Given the description of an element on the screen output the (x, y) to click on. 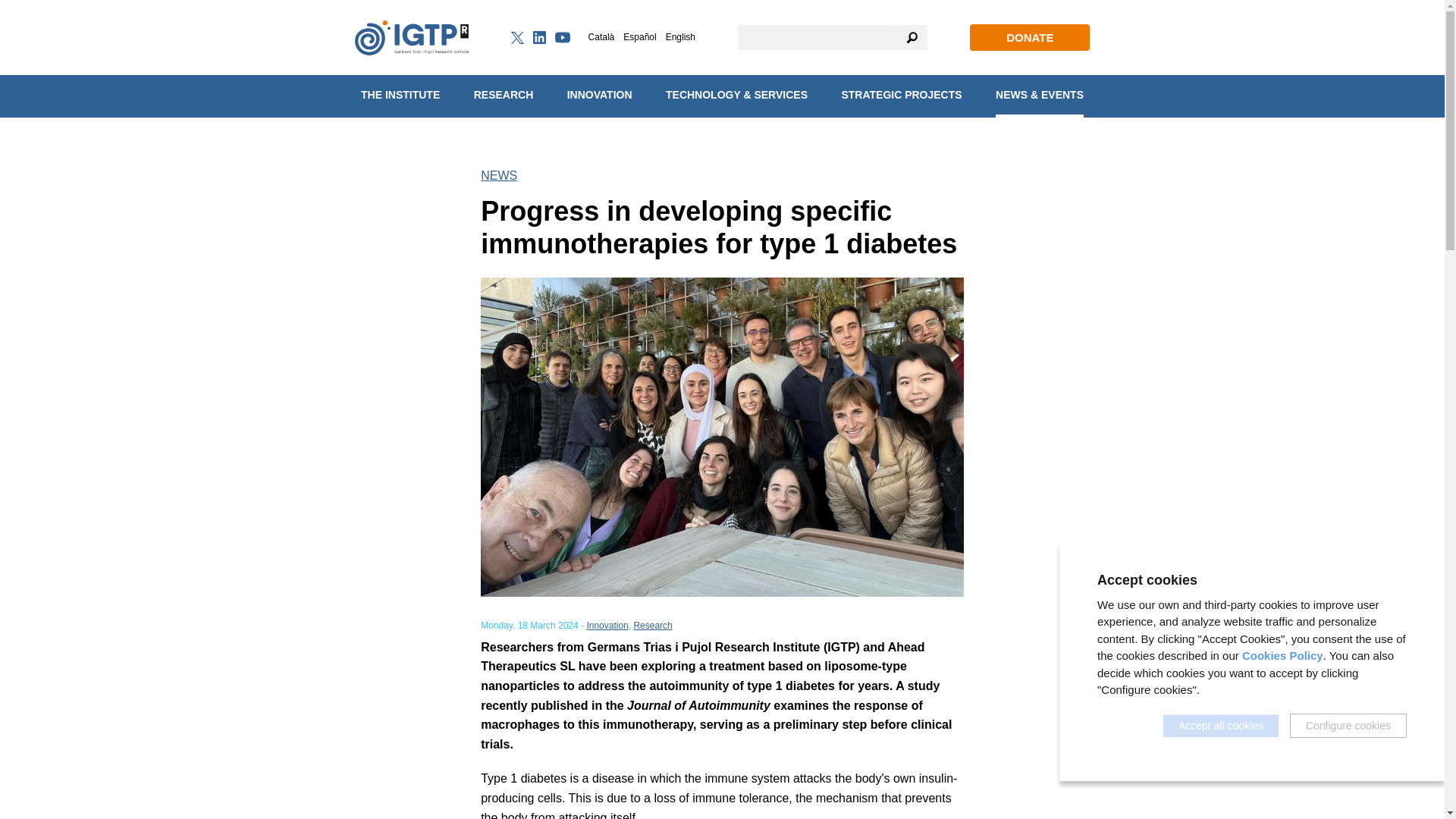
English version (680, 36)
English (680, 36)
DONATE (1029, 37)
Type here (817, 37)
Search (911, 37)
